Given the description of an element on the screen output the (x, y) to click on. 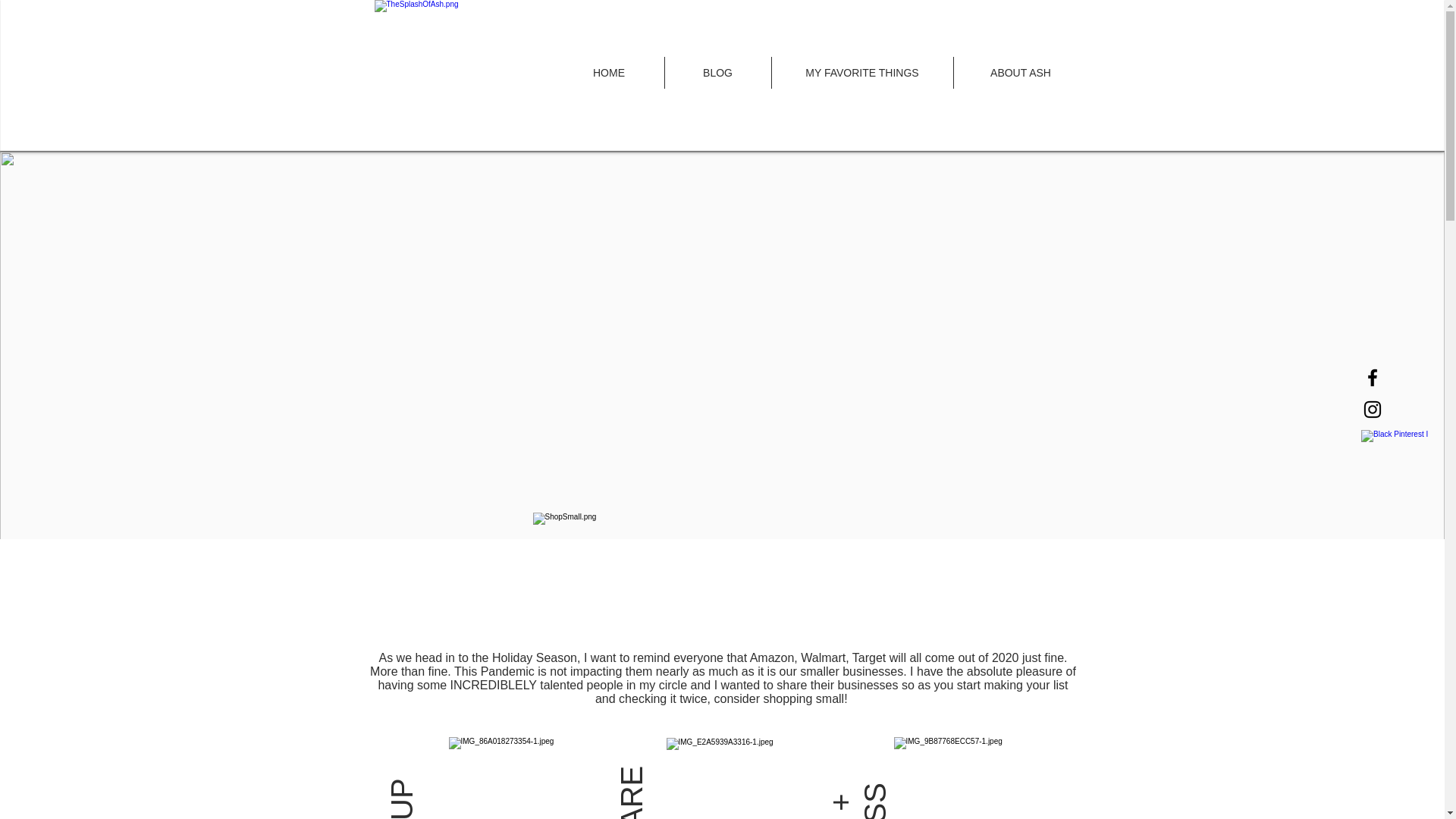
ABOUT ASH (1020, 72)
HOME (608, 72)
MY FAVORITE THINGS (862, 72)
BLOG (716, 72)
